Given the description of an element on the screen output the (x, y) to click on. 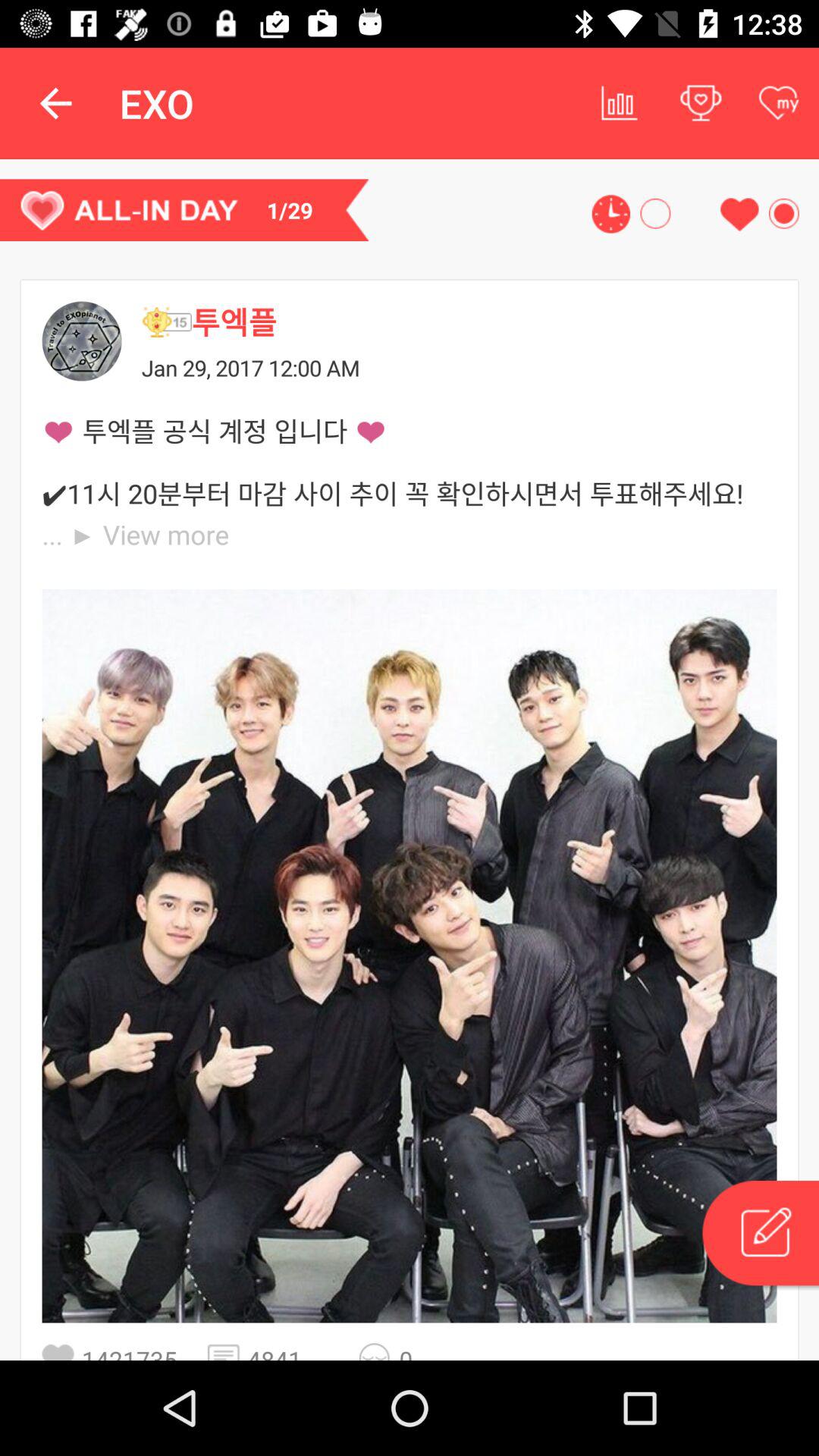
scroll to the jan 29 2017 icon (458, 367)
